Given the description of an element on the screen output the (x, y) to click on. 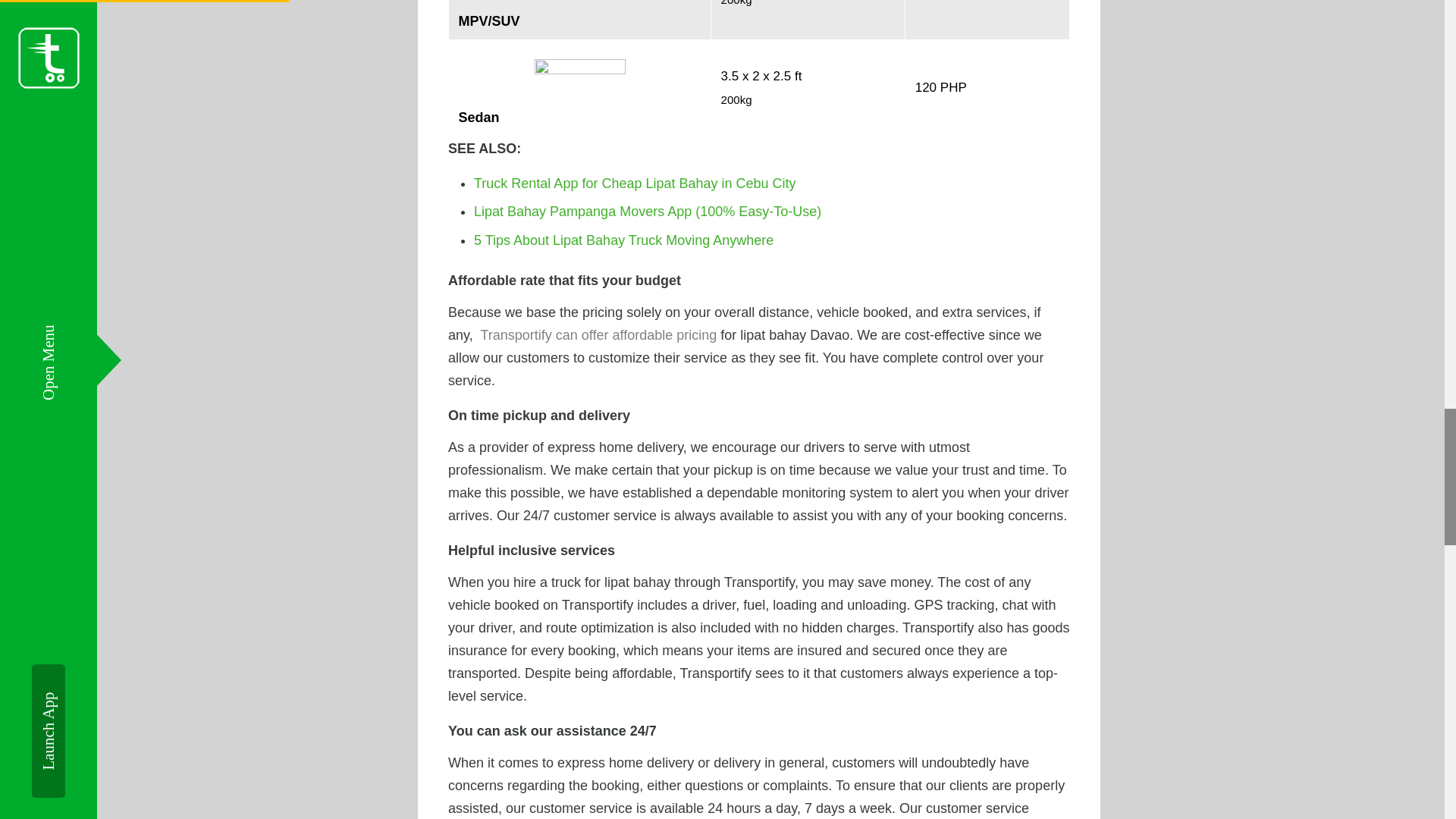
5 Tips About Lipat Bahay Truck Moving Anywhere (623, 240)
Truck Rental App for Cheap Lipat Bahay in Cebu City (635, 183)
Transportify can offer affordable pricing (598, 335)
